Given the description of an element on the screen output the (x, y) to click on. 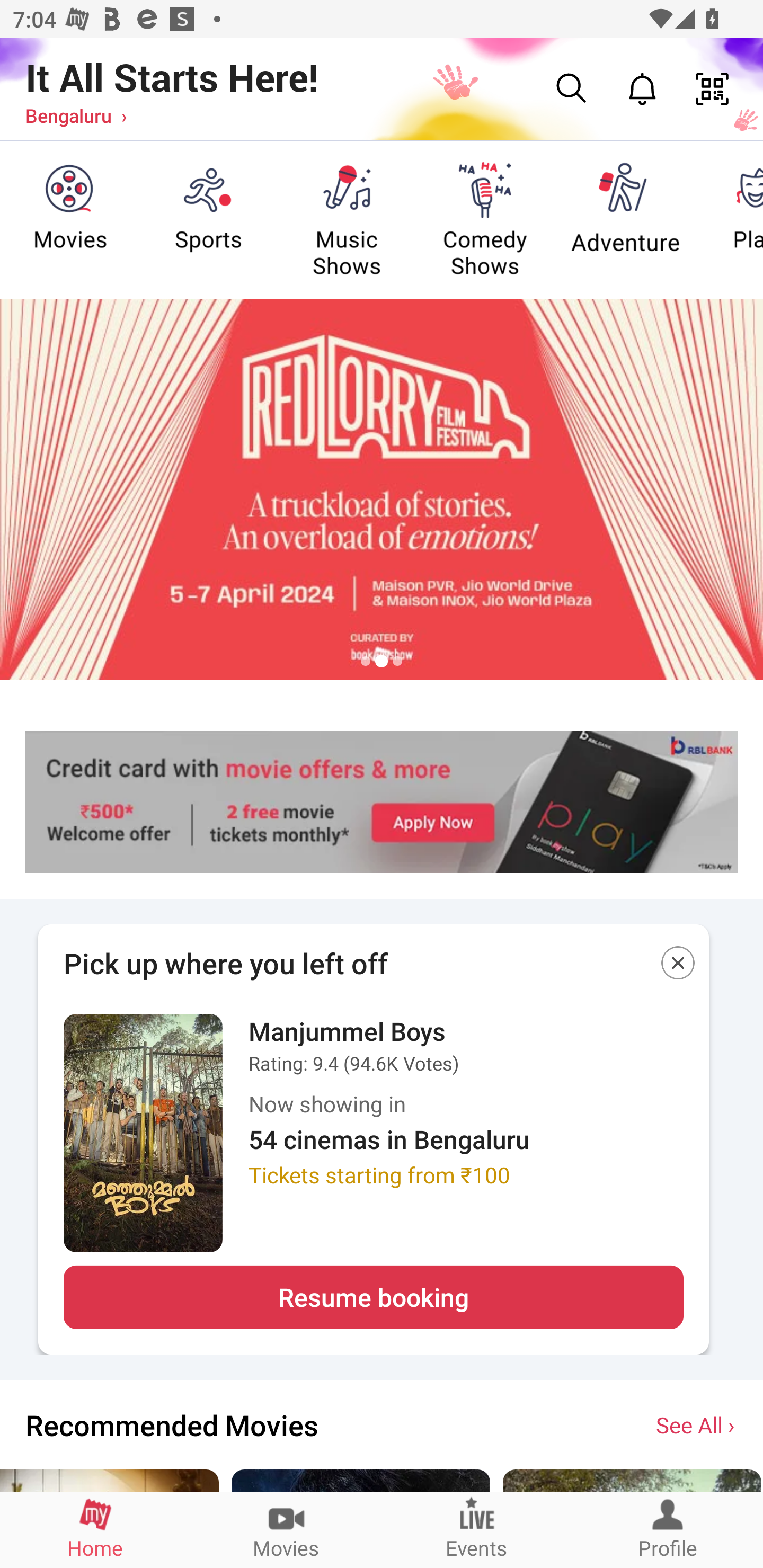
Bengaluru  › (76, 114)
  (678, 966)
Resume booking (373, 1297)
See All › (696, 1424)
Home (95, 1529)
Movies (285, 1529)
Events (476, 1529)
Profile (667, 1529)
